Given the description of an element on the screen output the (x, y) to click on. 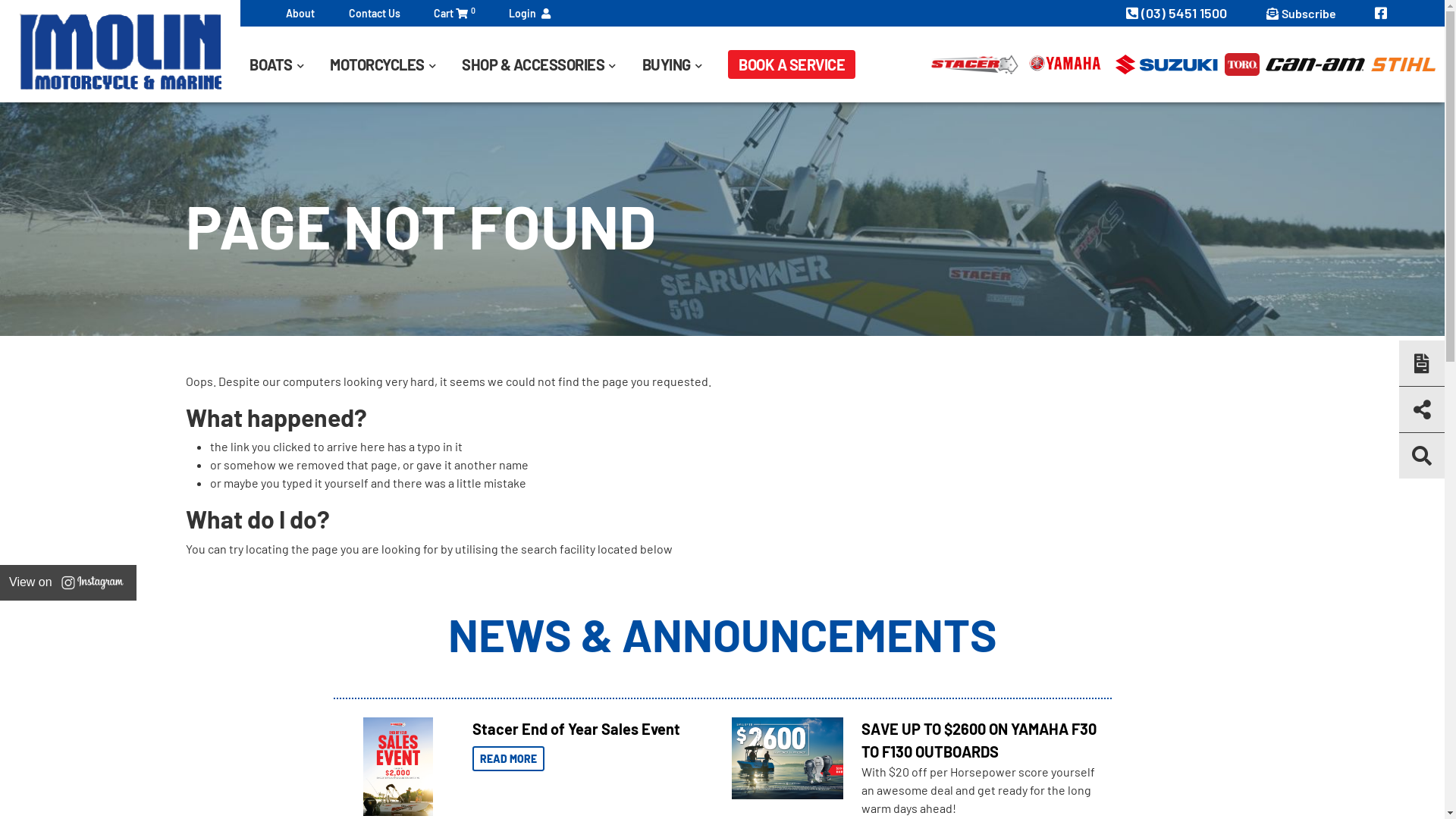
About Element type: text (299, 13)
Login Element type: text (529, 13)
Subscribe Element type: text (1301, 13)
BOOK A SERVICE Element type: text (791, 64)
BUYING Element type: text (685, 64)
READ MORE Element type: text (507, 758)
(03) 5451 1500 Element type: text (1178, 12)
Cart 0 Element type: text (454, 13)
NEWS & ANNOUNCEMENTS Element type: text (721, 633)
SHOP & ACCESSORIES Element type: text (551, 64)
BOATS Element type: text (289, 64)
Contact Us Element type: text (374, 13)
Stacer End of Year Sales Event Element type: text (575, 728)
View on Element type: text (68, 582)
SAVE UP TO $2600 ON YAMAHA F30 TO F130 OUTBOARDS Element type: text (978, 739)
MOTORCYCLES Element type: text (395, 64)
